Given the description of an element on the screen output the (x, y) to click on. 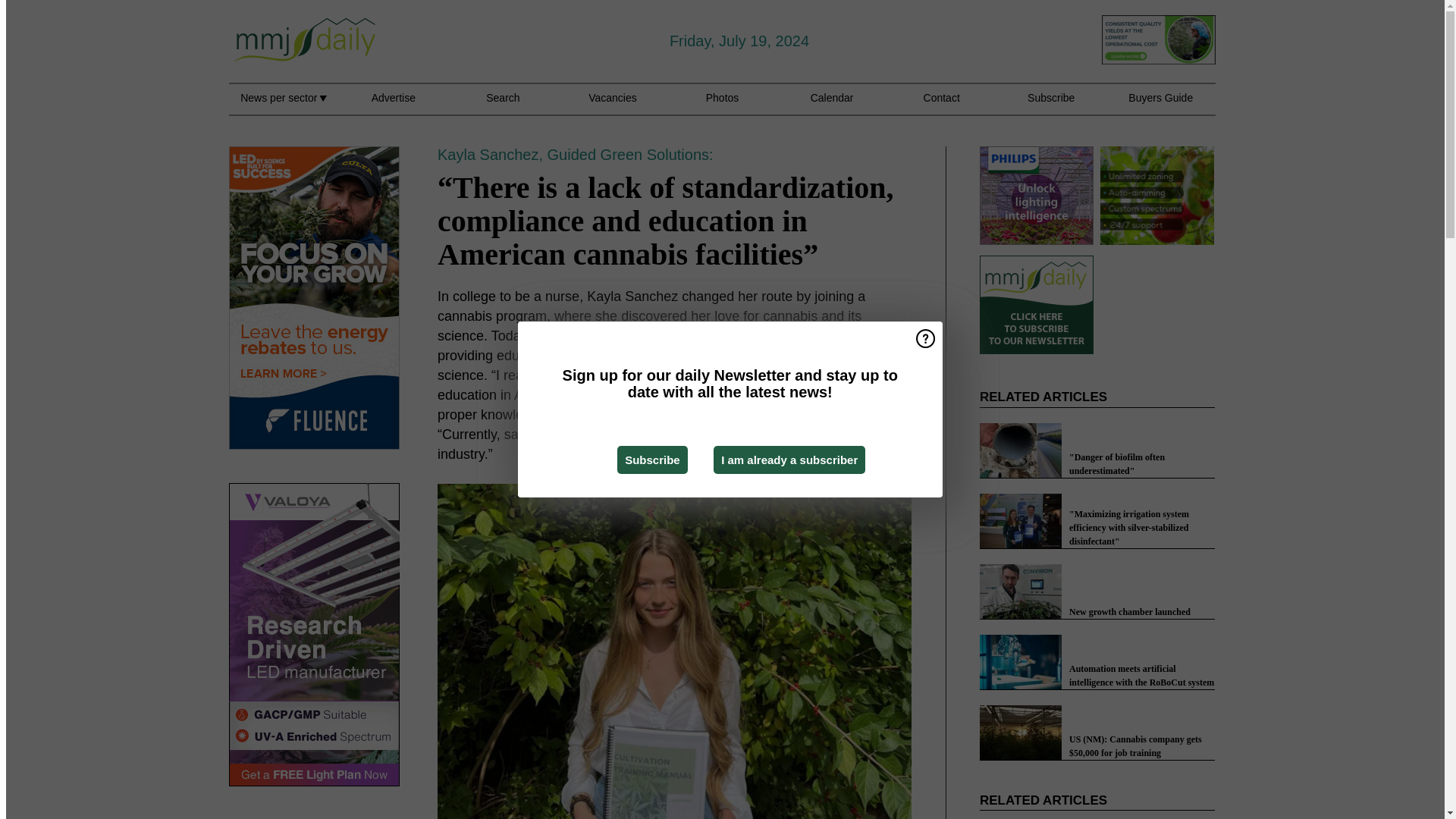
Search (502, 106)
News per sector (283, 106)
I am already a subscriber (788, 459)
Subscribe (652, 459)
Vacancies (612, 106)
Photos (722, 106)
Advertise (392, 106)
